Given the description of an element on the screen output the (x, y) to click on. 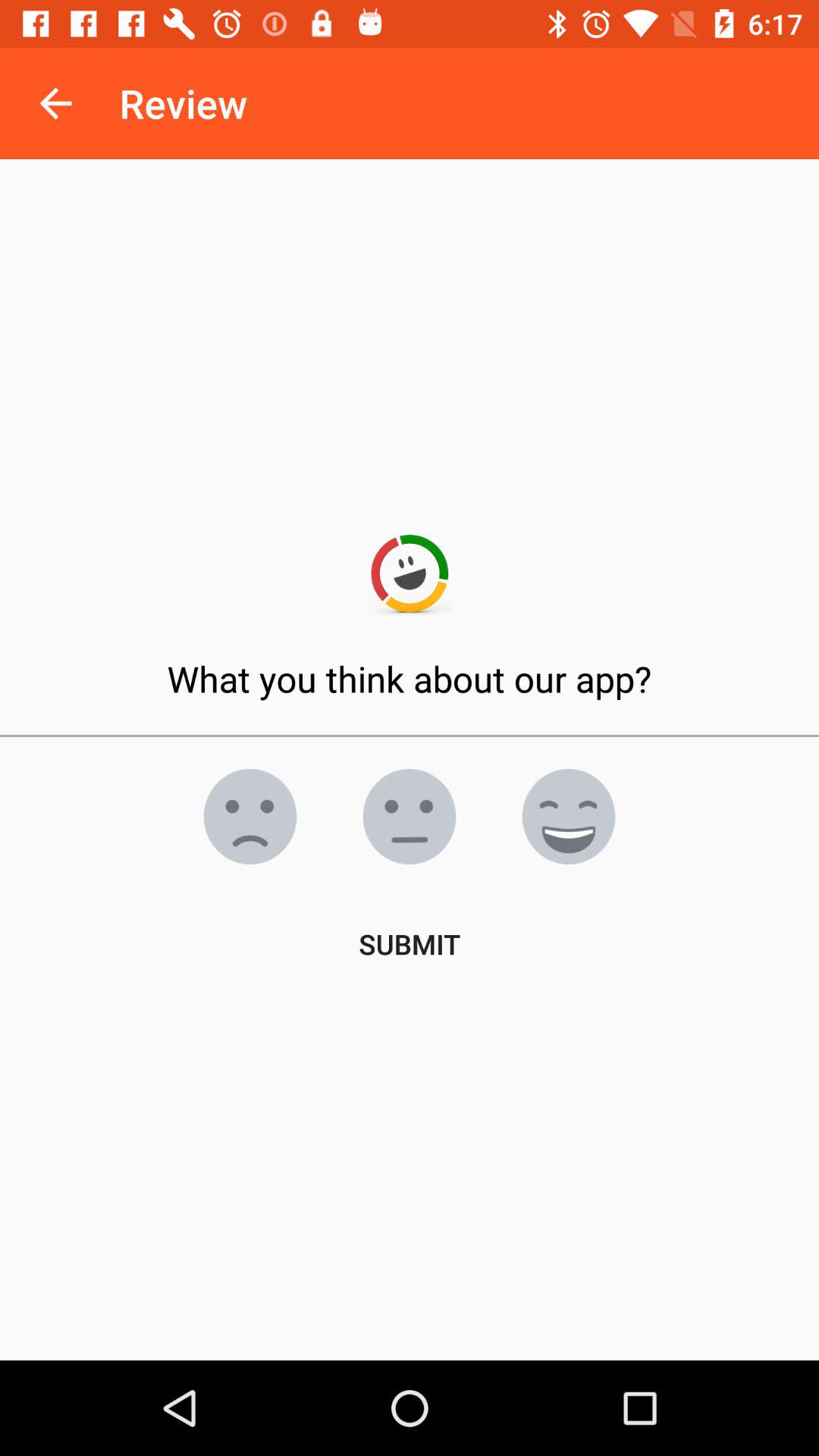
turn on item above submit (409, 816)
